Given the description of an element on the screen output the (x, y) to click on. 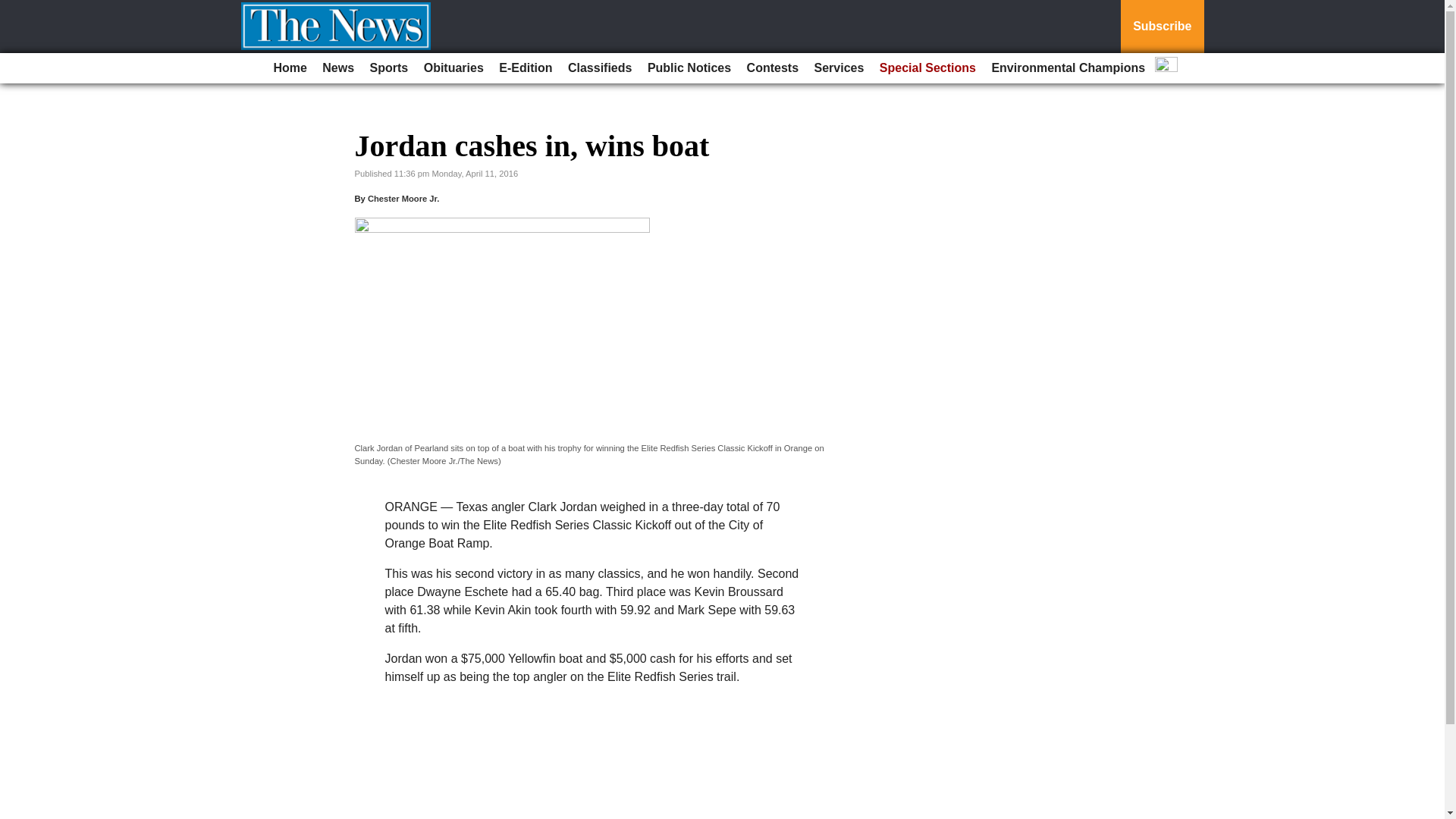
Obituaries (453, 68)
Subscribe (1162, 26)
Home (289, 68)
Chester Moore Jr. (403, 198)
Services (839, 68)
Classifieds (599, 68)
Special Sections (927, 68)
Public Notices (689, 68)
Sports (389, 68)
E-Edition (525, 68)
Go (13, 9)
News (337, 68)
Contests (773, 68)
Environmental Champions (1068, 68)
